Given the description of an element on the screen output the (x, y) to click on. 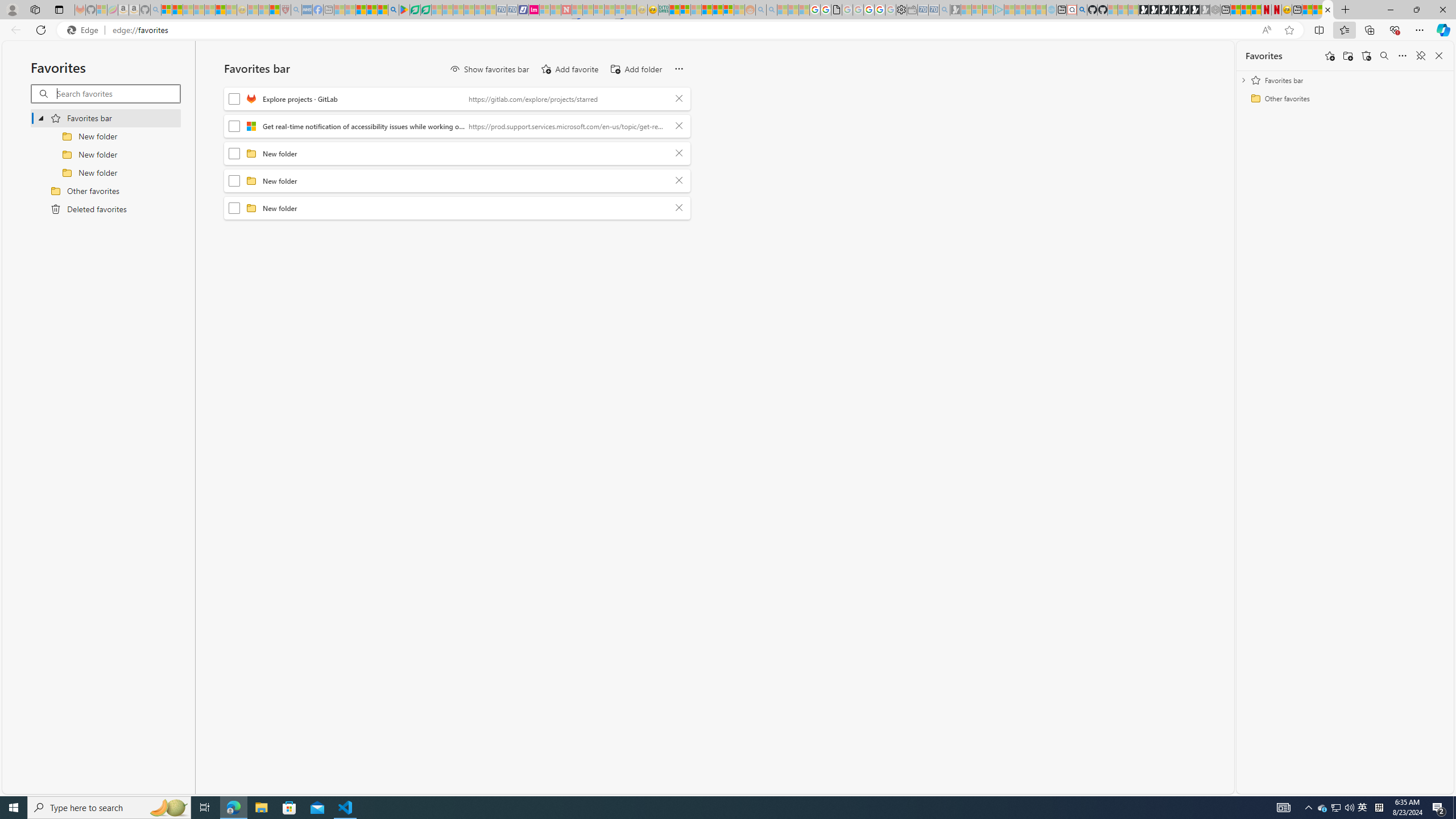
Settings (901, 9)
Kinda Frugal - MSN (717, 9)
Personal Profile (12, 9)
Microsoft account | Privacy (685, 9)
Bluey: Let's Play! - Apps on Google Play (404, 9)
Home | Sky Blue Bikes - Sky Blue Bikes - Sleeping (1051, 9)
